Given the description of an element on the screen output the (x, y) to click on. 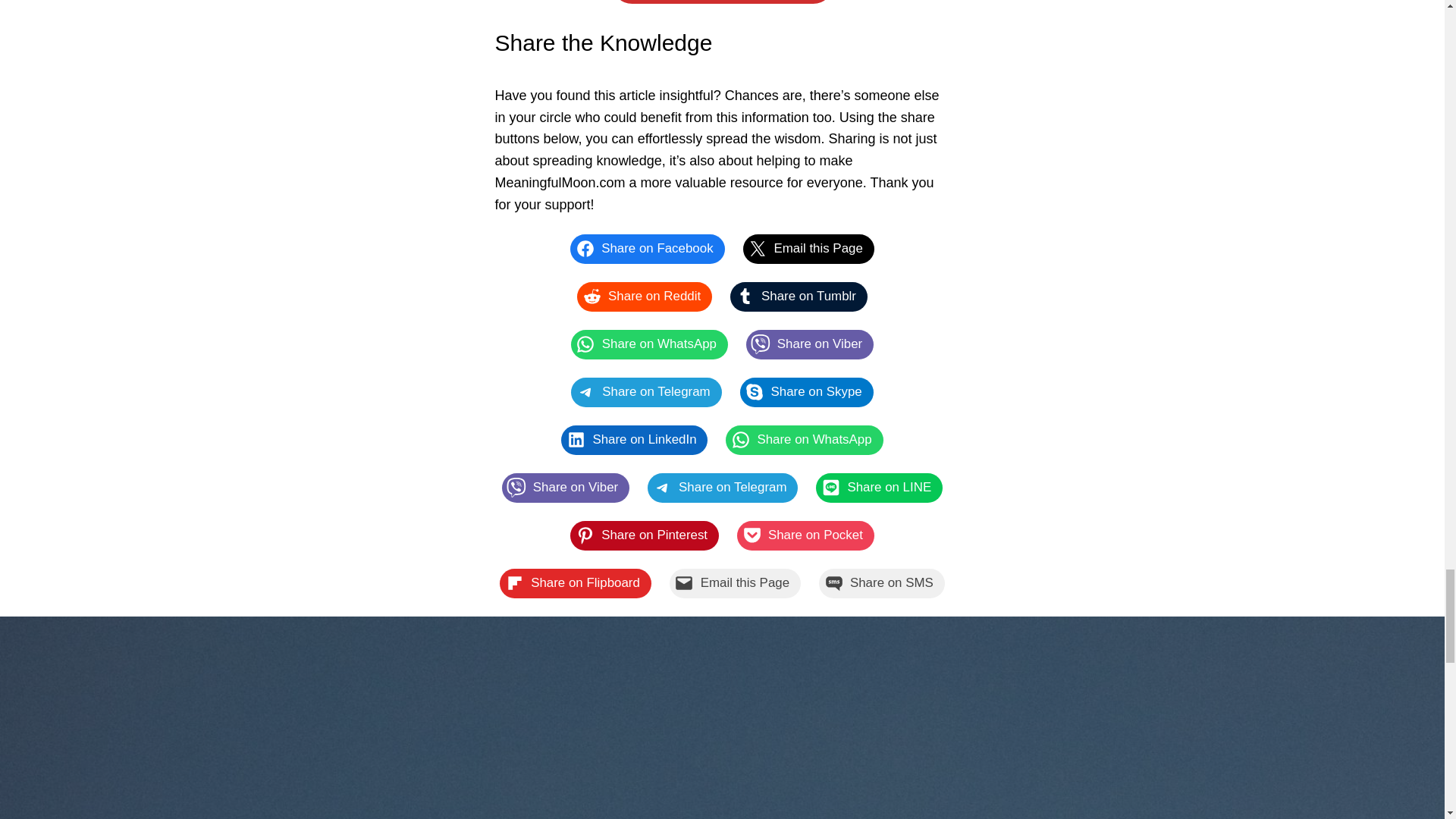
Share on Facebook (646, 248)
Share on Reddit (643, 296)
Share on SMS (881, 583)
Share on WhatsApp (649, 344)
Get your FREE Moon Reading (722, 2)
Share on Viber (565, 487)
Share on LinkedIn (633, 440)
Share on WhatsApp (803, 440)
Email this Page (808, 248)
Share on Tumblr (798, 296)
